Given the description of an element on the screen output the (x, y) to click on. 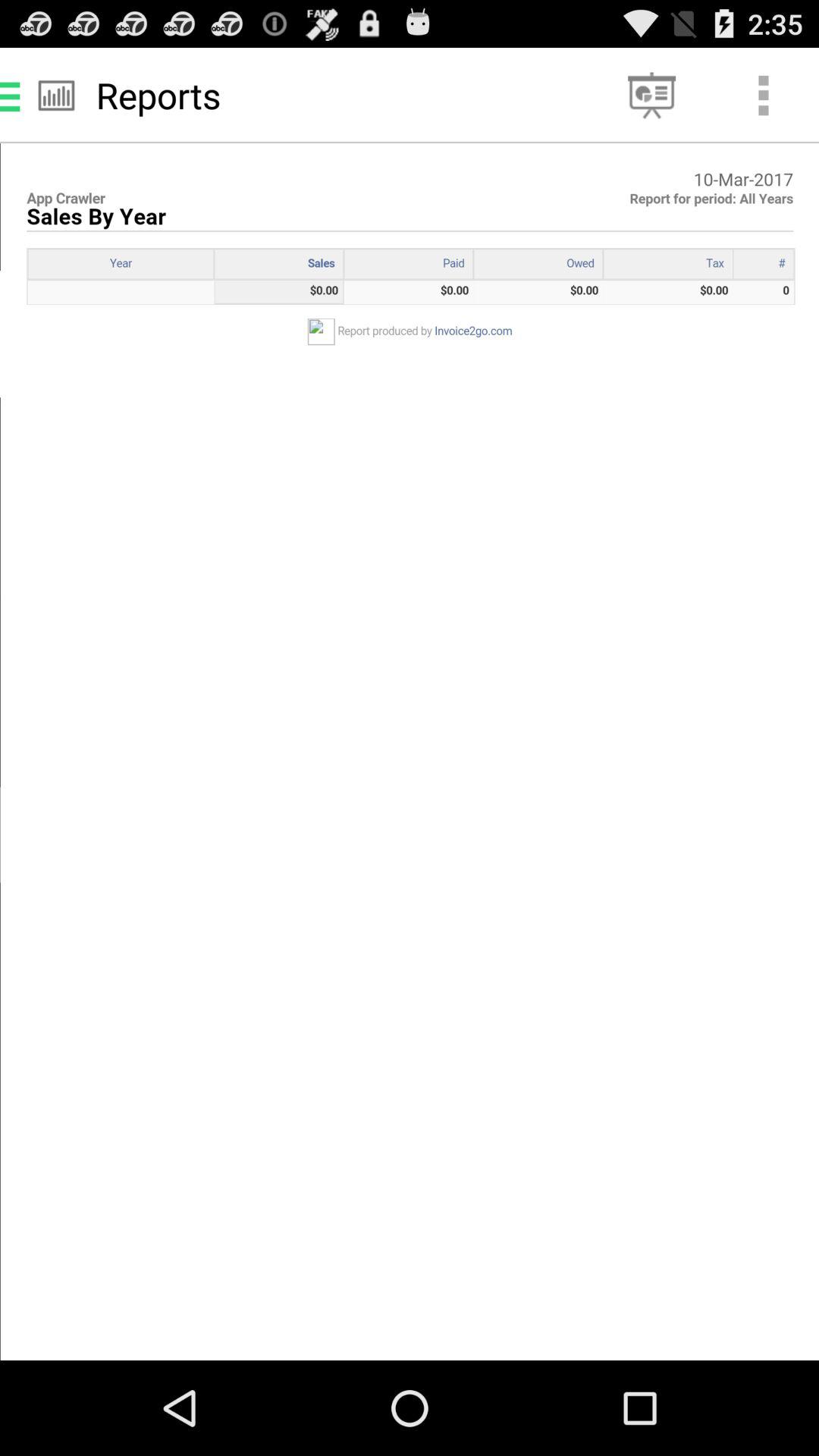
descrisption (409, 751)
